Given the description of an element on the screen output the (x, y) to click on. 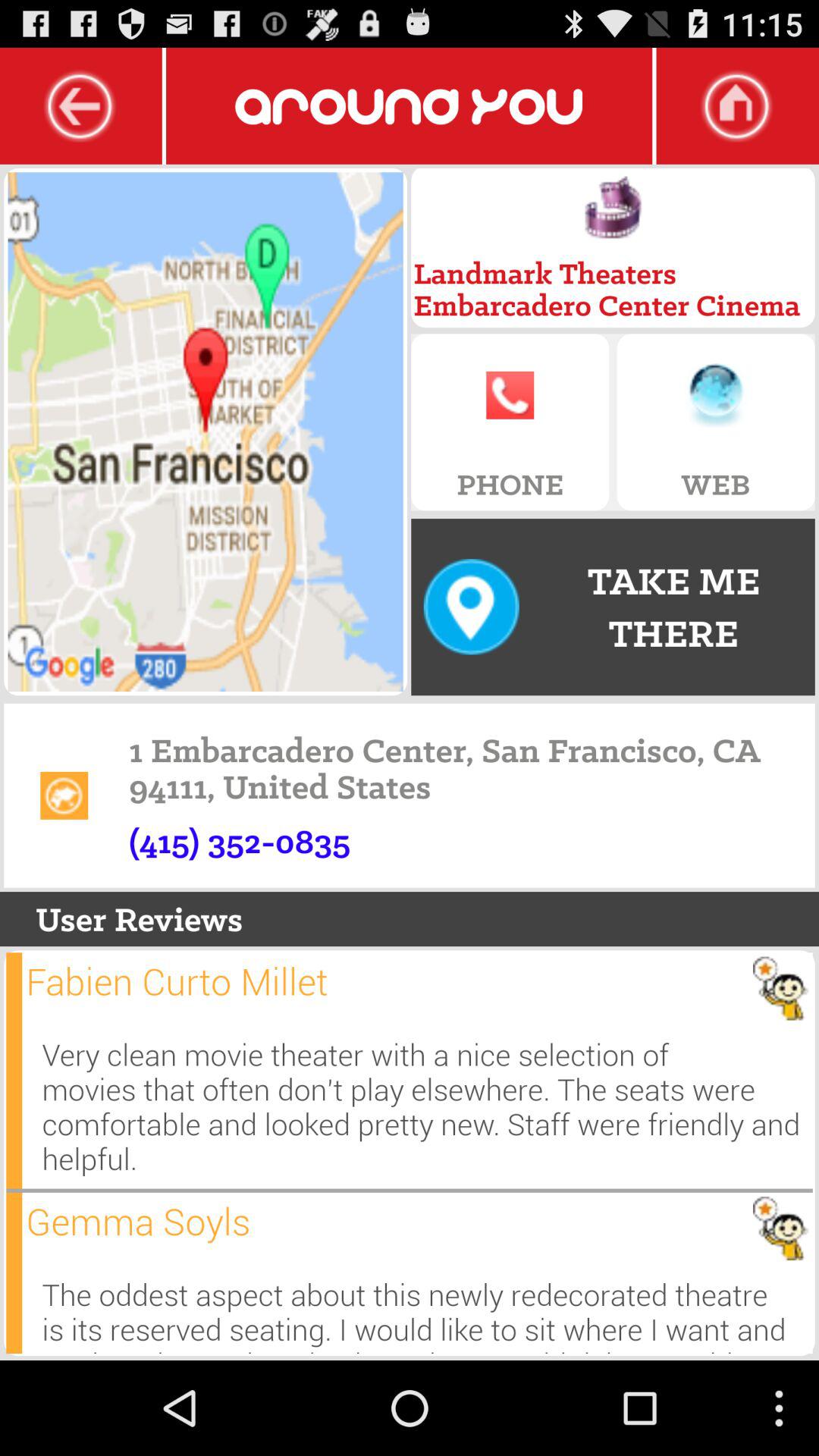
choose app to the left of gemma soyls item (14, 1272)
